Given the description of an element on the screen output the (x, y) to click on. 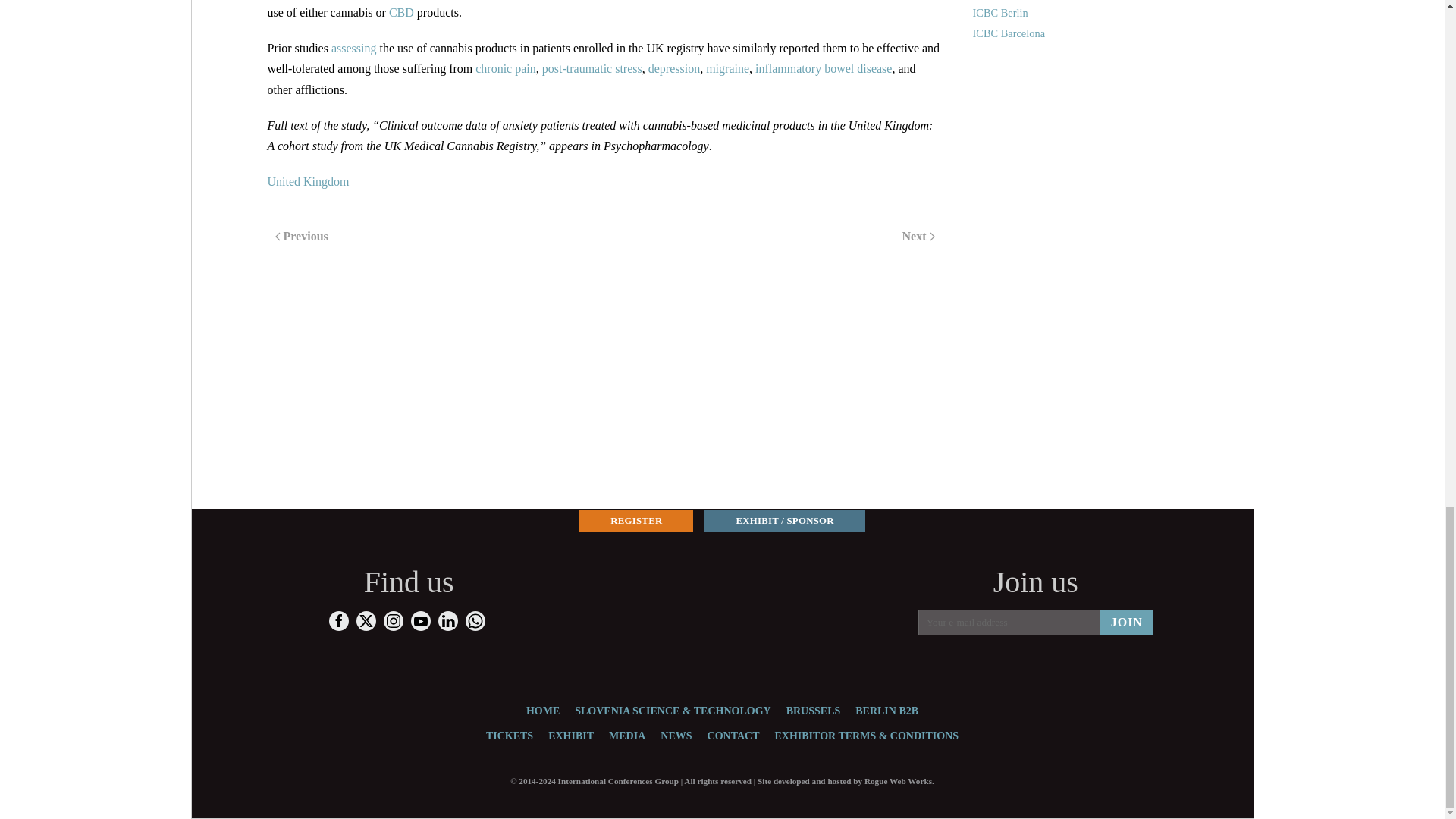
JOIN (1126, 622)
